Given the description of an element on the screen output the (x, y) to click on. 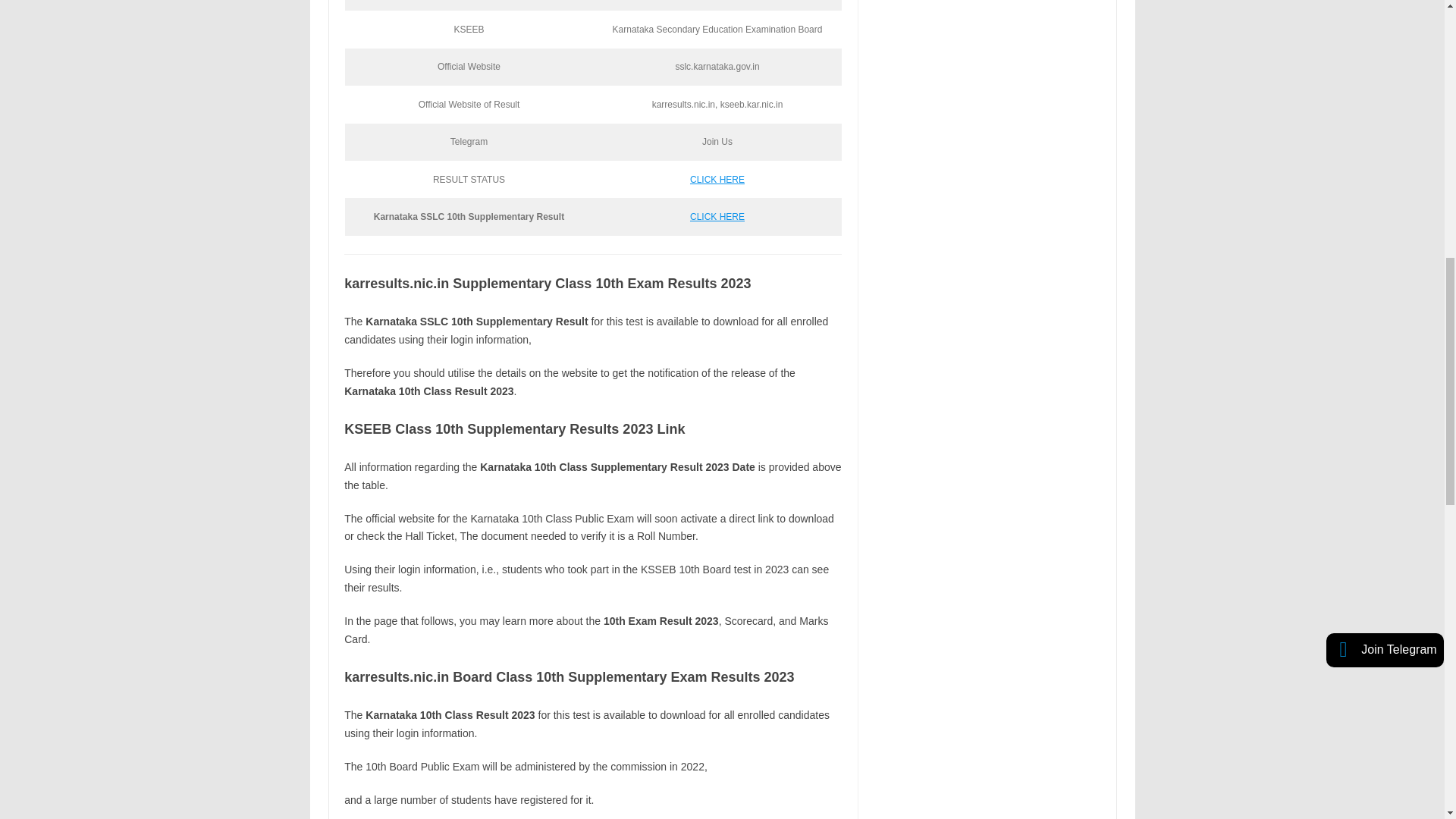
CLICK HERE (717, 216)
CLICK HERE (717, 179)
